Given the description of an element on the screen output the (x, y) to click on. 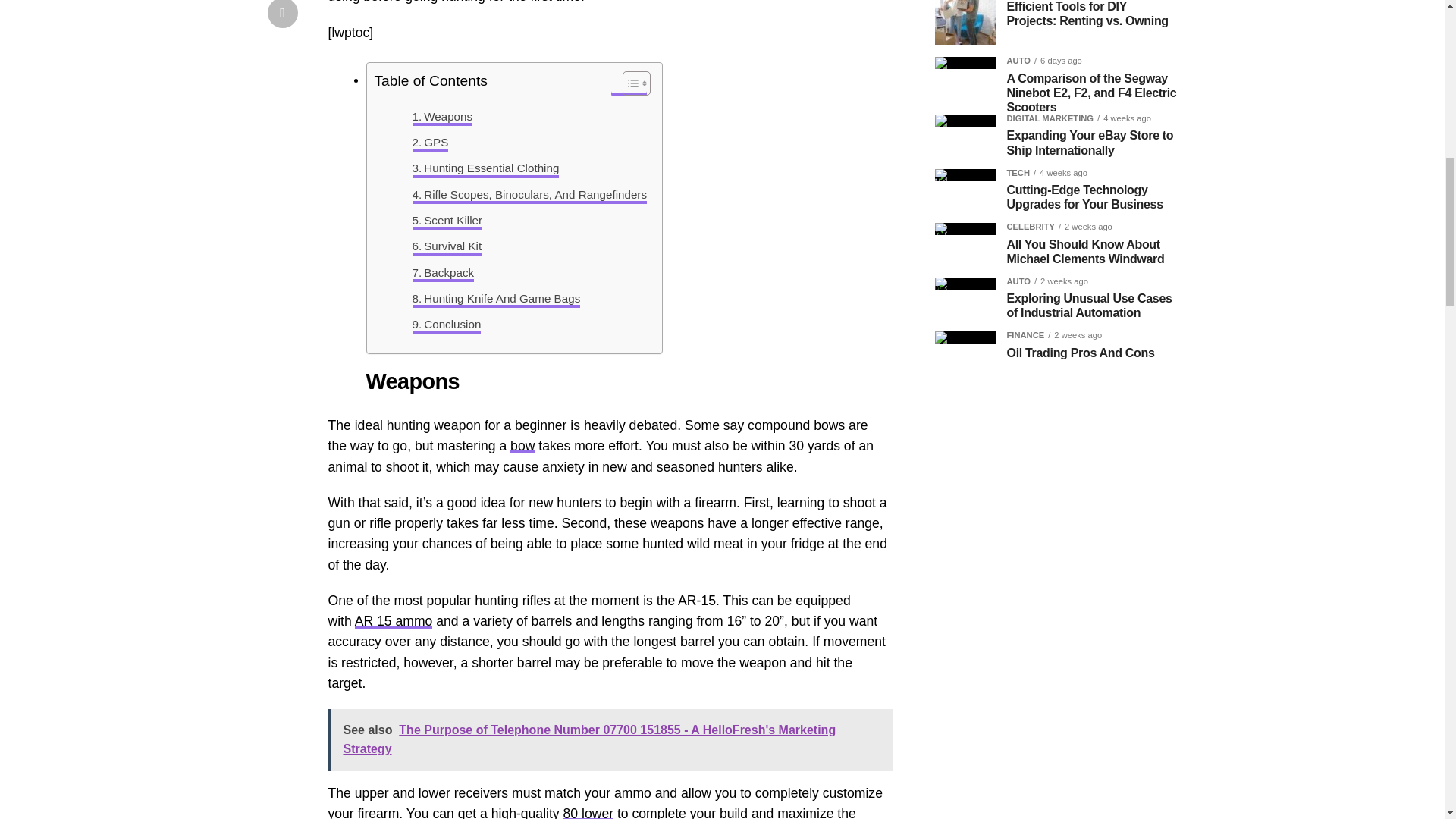
Backpack (443, 272)
Scent Killer (447, 220)
Survival Kit (446, 246)
Rifle Scopes, Binoculars, And Rangefinders (529, 194)
Hunting Essential Clothing (485, 167)
Weapons (442, 116)
GPS (430, 142)
Hunting Knife And Game Bags (496, 298)
